Given the description of an element on the screen output the (x, y) to click on. 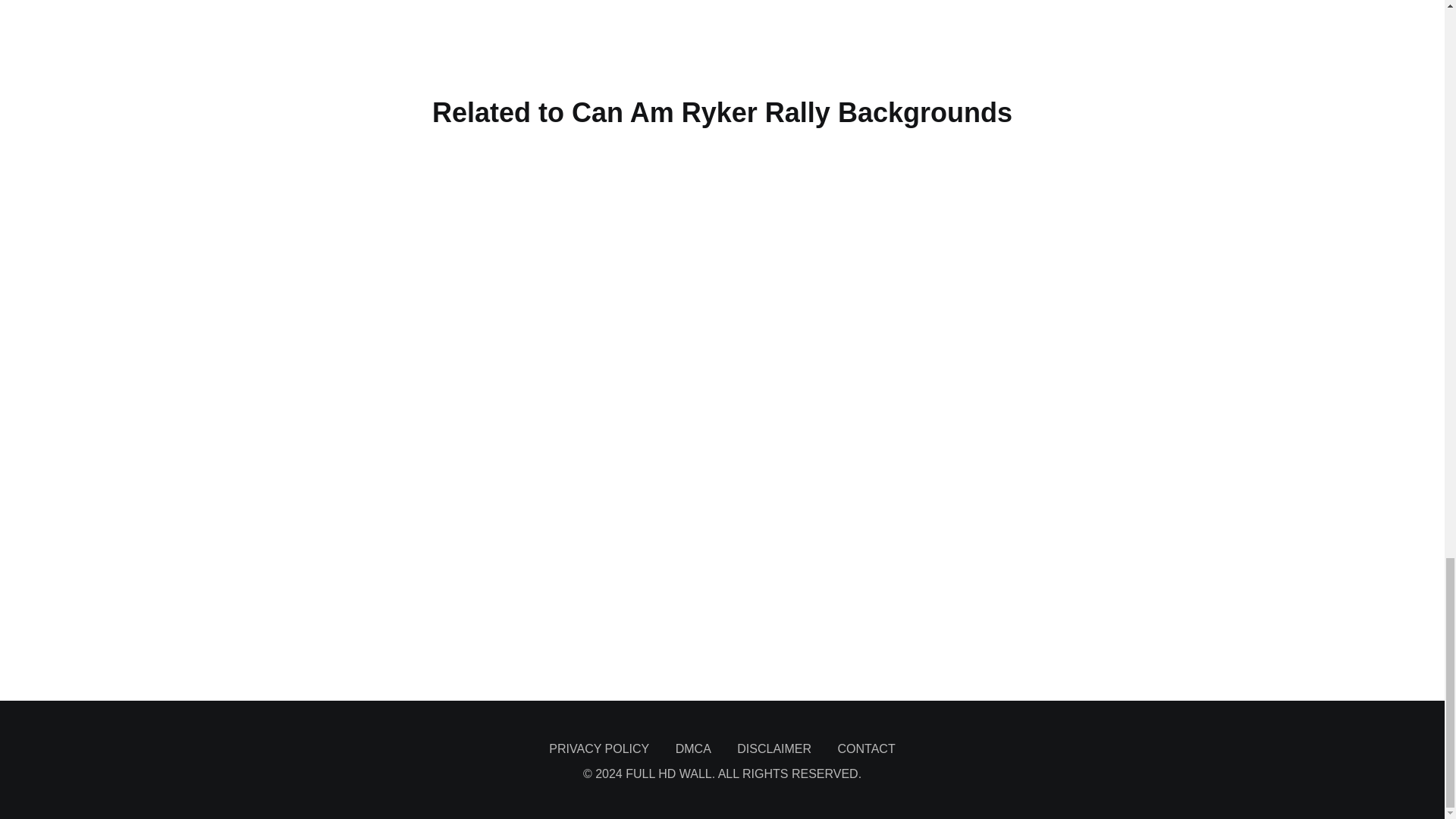
Advertisement (721, 36)
Advertisement (721, 582)
Advertisement (721, 658)
